Given the description of an element on the screen output the (x, y) to click on. 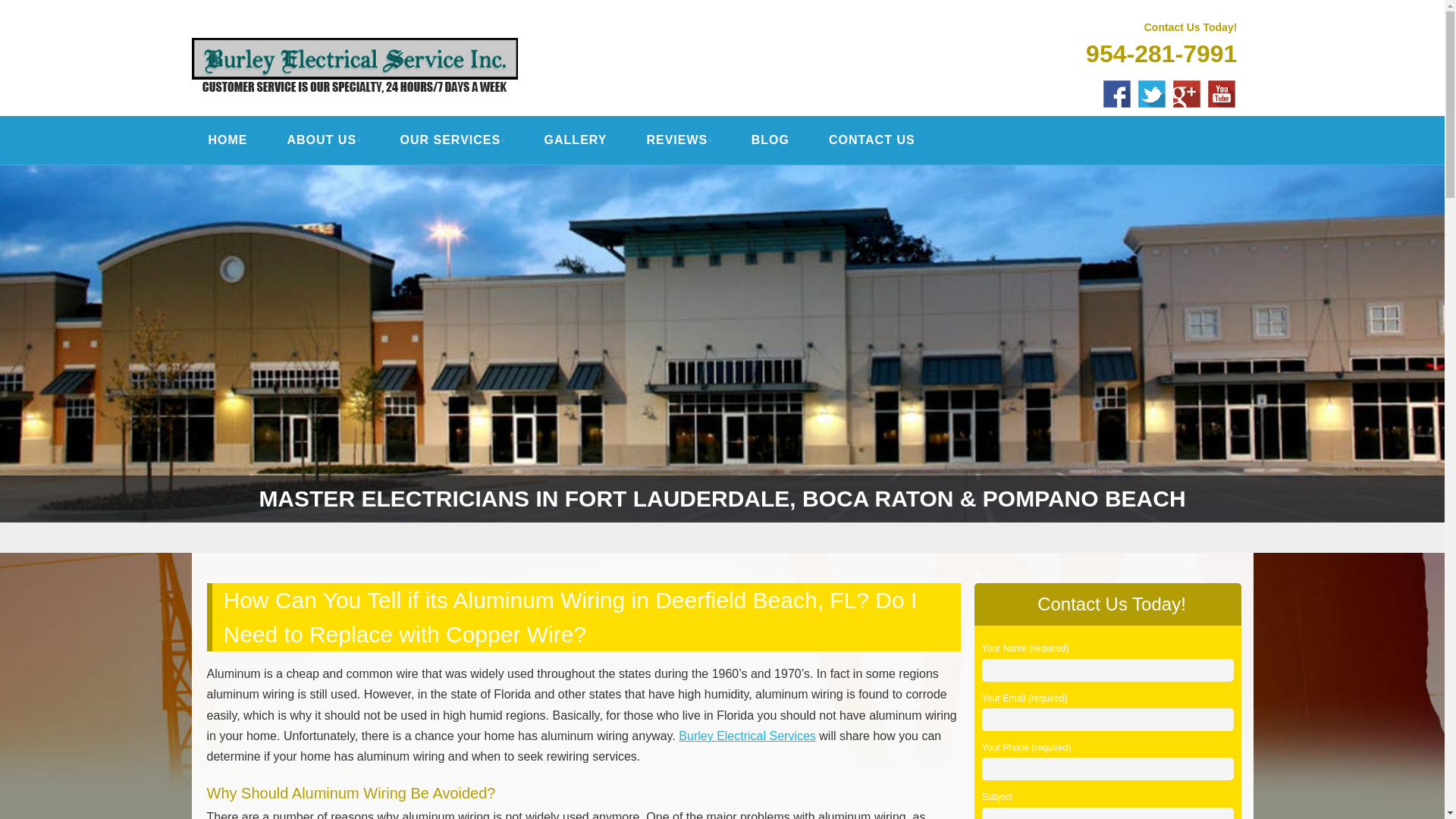
ABOUT US (323, 140)
GALLERY (575, 140)
REVIEWS (679, 140)
CONTACT US (872, 140)
BLOG (770, 140)
OUR SERVICES (452, 140)
Burley Electrical Services (428, 32)
HOME (227, 140)
BURLEY ELECTRICAL SERVICES (428, 32)
